Given the description of an element on the screen output the (x, y) to click on. 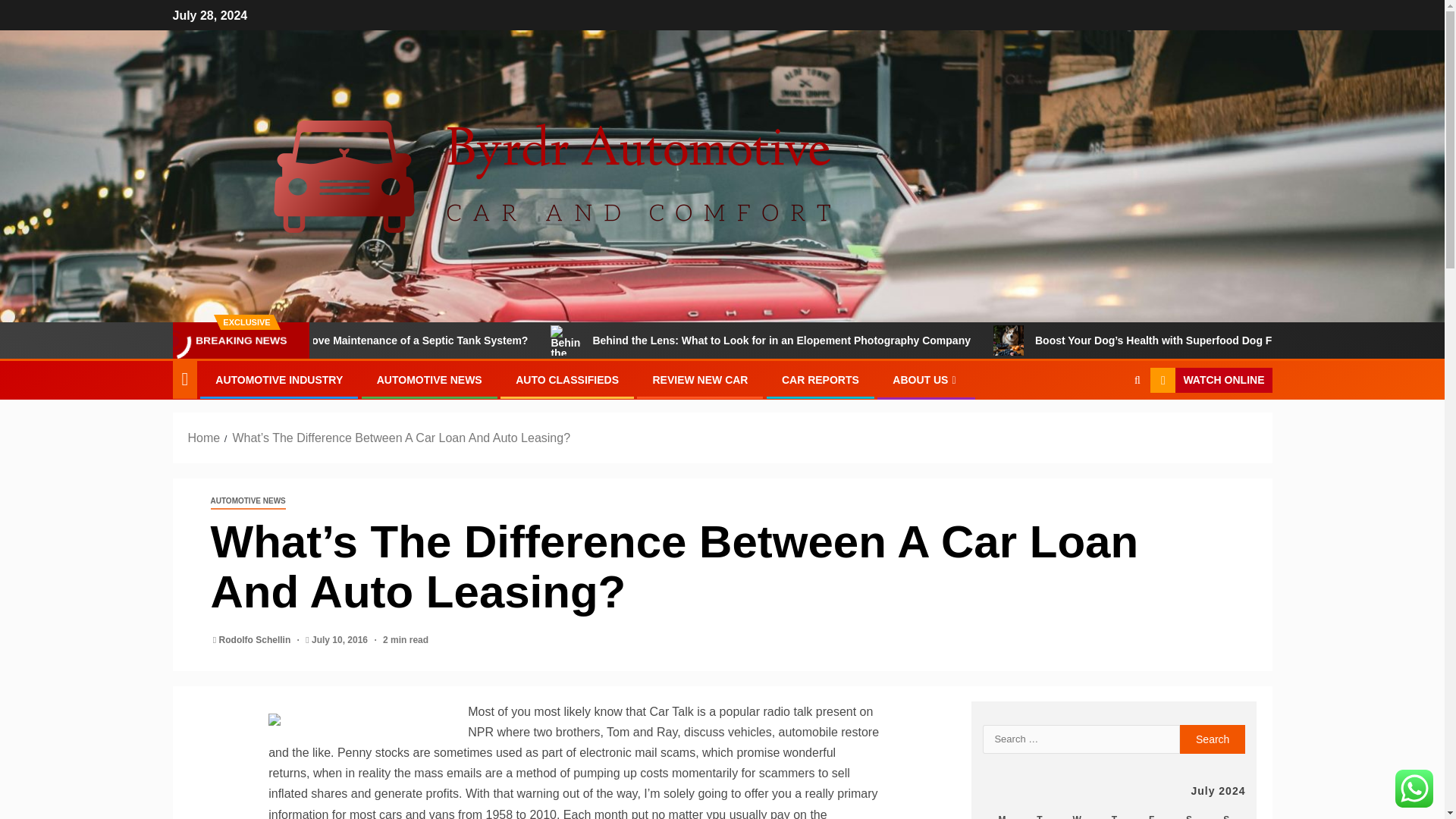
AUTOMOTIVE NEWS (248, 501)
CAR REPORTS (820, 379)
Search (1107, 426)
ABOUT US (925, 379)
AUTOMOTIVE INDUSTRY (278, 379)
Search (1212, 738)
How to Improve Maintenance of a Septic Tank System? (481, 340)
Home (204, 437)
REVIEW NEW CAR (700, 379)
AUTO CLASSIFIEDS (566, 379)
Search (1212, 738)
WATCH ONLINE (1210, 380)
AUTOMOTIVE NEWS (429, 379)
Rodolfo Schellin (256, 639)
